Given the description of an element on the screen output the (x, y) to click on. 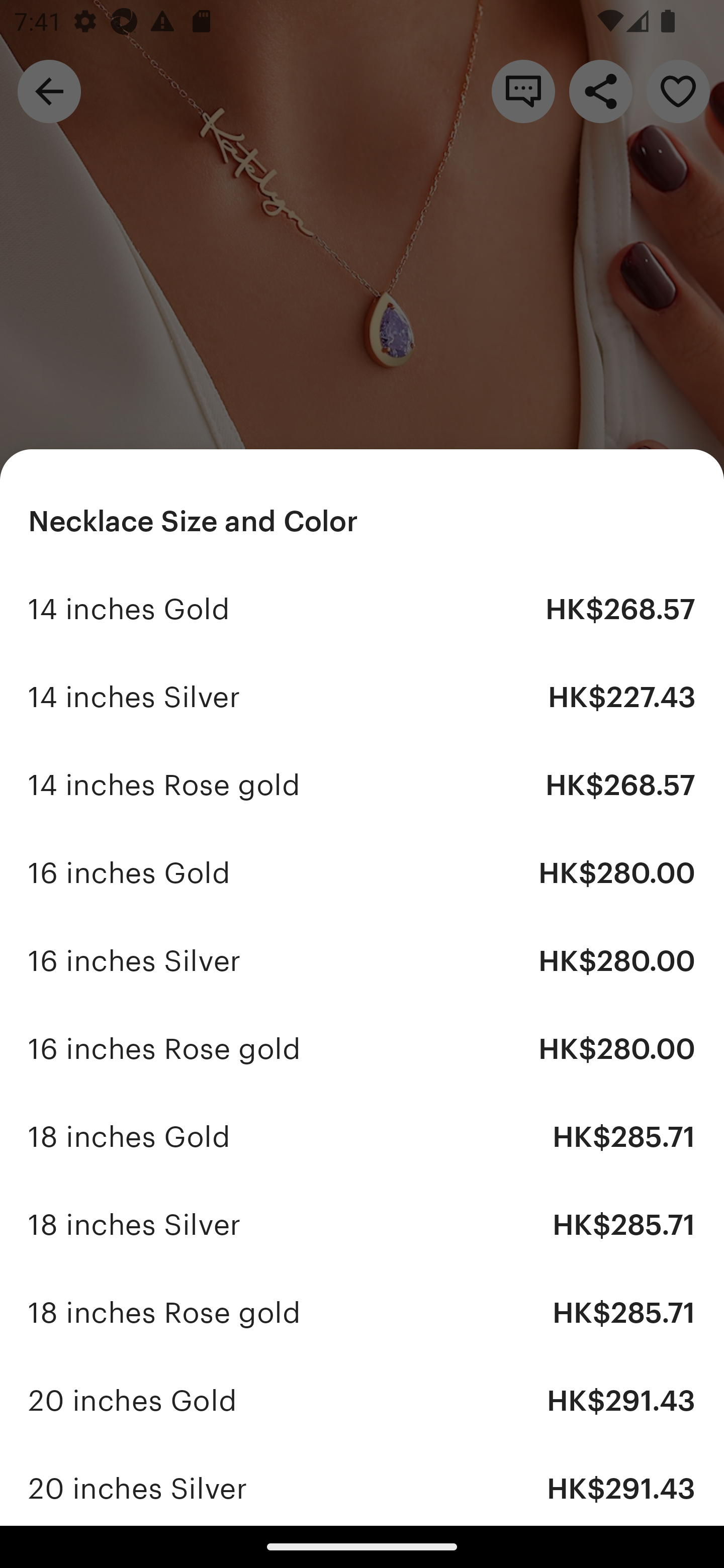
14 inches Gold HK$268.57 (362, 609)
14 inches Silver HK$227.43 (362, 697)
14 inches Rose gold HK$268.57 (362, 785)
16 inches Gold HK$280.00 (362, 873)
16 inches Silver HK$280.00 (362, 961)
16 inches Rose gold HK$280.00 (362, 1048)
18 inches Gold HK$285.71 (362, 1136)
18 inches Silver HK$285.71 (362, 1224)
18 inches Rose gold HK$285.71 (362, 1312)
20 inches Gold HK$291.43 (362, 1400)
20 inches Silver HK$291.43 (362, 1484)
